Given the description of an element on the screen output the (x, y) to click on. 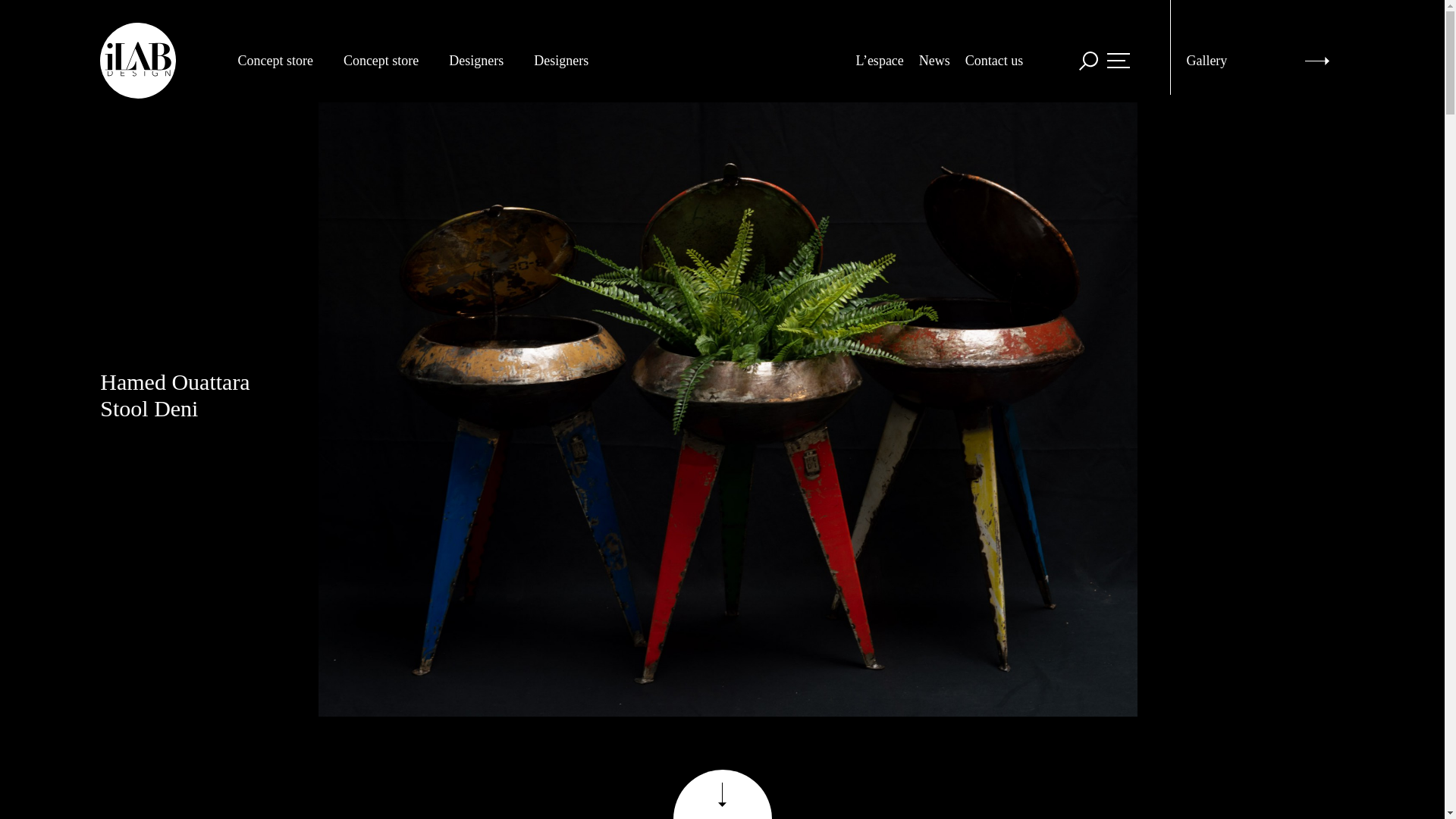
Concept store (388, 60)
Contact us (994, 60)
Designers (483, 60)
Designers (569, 60)
Concept store (282, 60)
iLAB Design (138, 60)
Gallery (1256, 47)
News (934, 60)
